Given the description of an element on the screen output the (x, y) to click on. 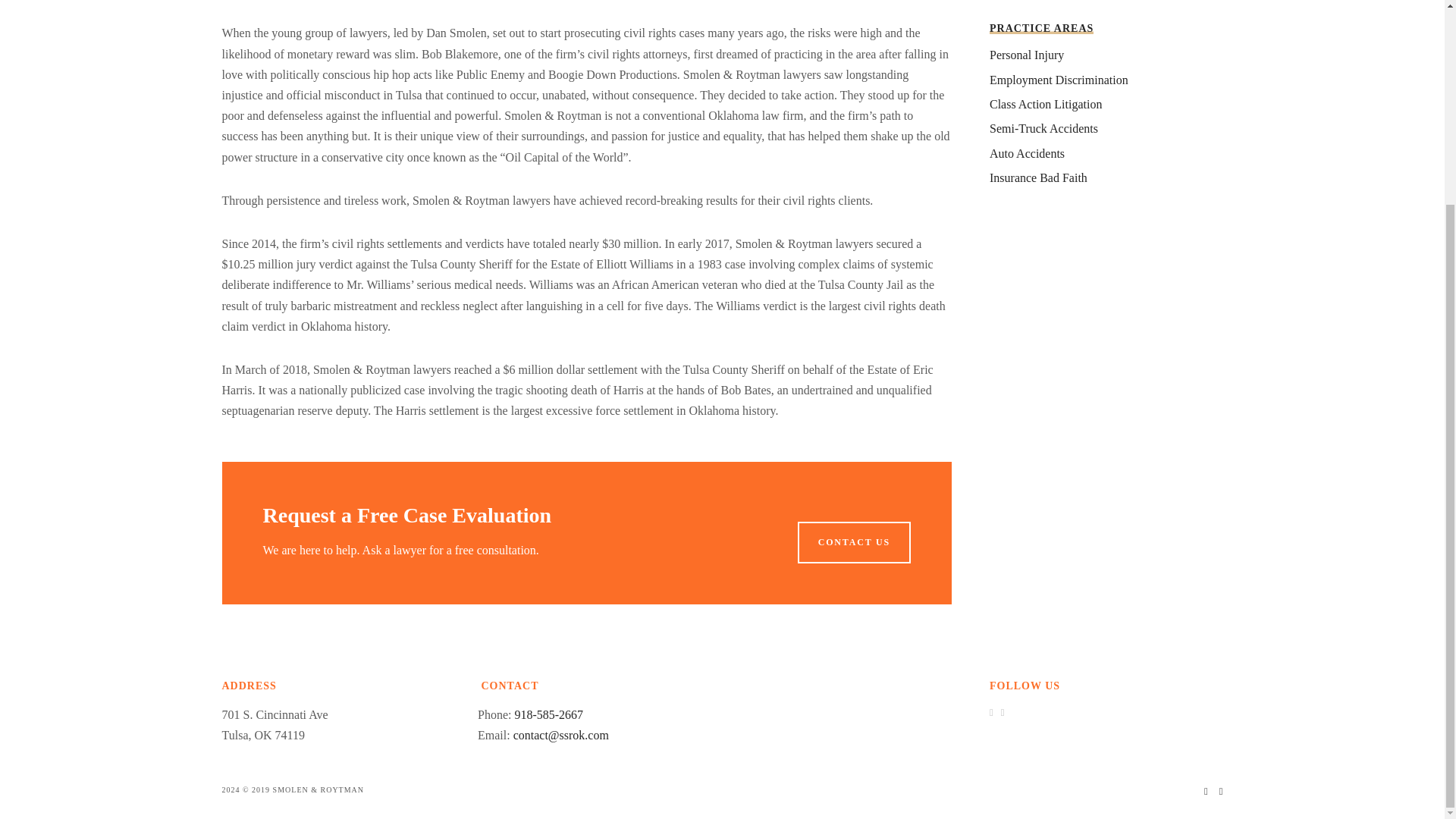
Insurance Bad Faith (1038, 177)
Class Action Litigation (1046, 103)
Personal Injury (1027, 54)
Semi-Truck Accidents (1043, 128)
918-585-2667 (548, 714)
CONTACT US (854, 541)
Employment Discrimination (1059, 79)
Auto Accidents (1027, 153)
